Given the description of an element on the screen output the (x, y) to click on. 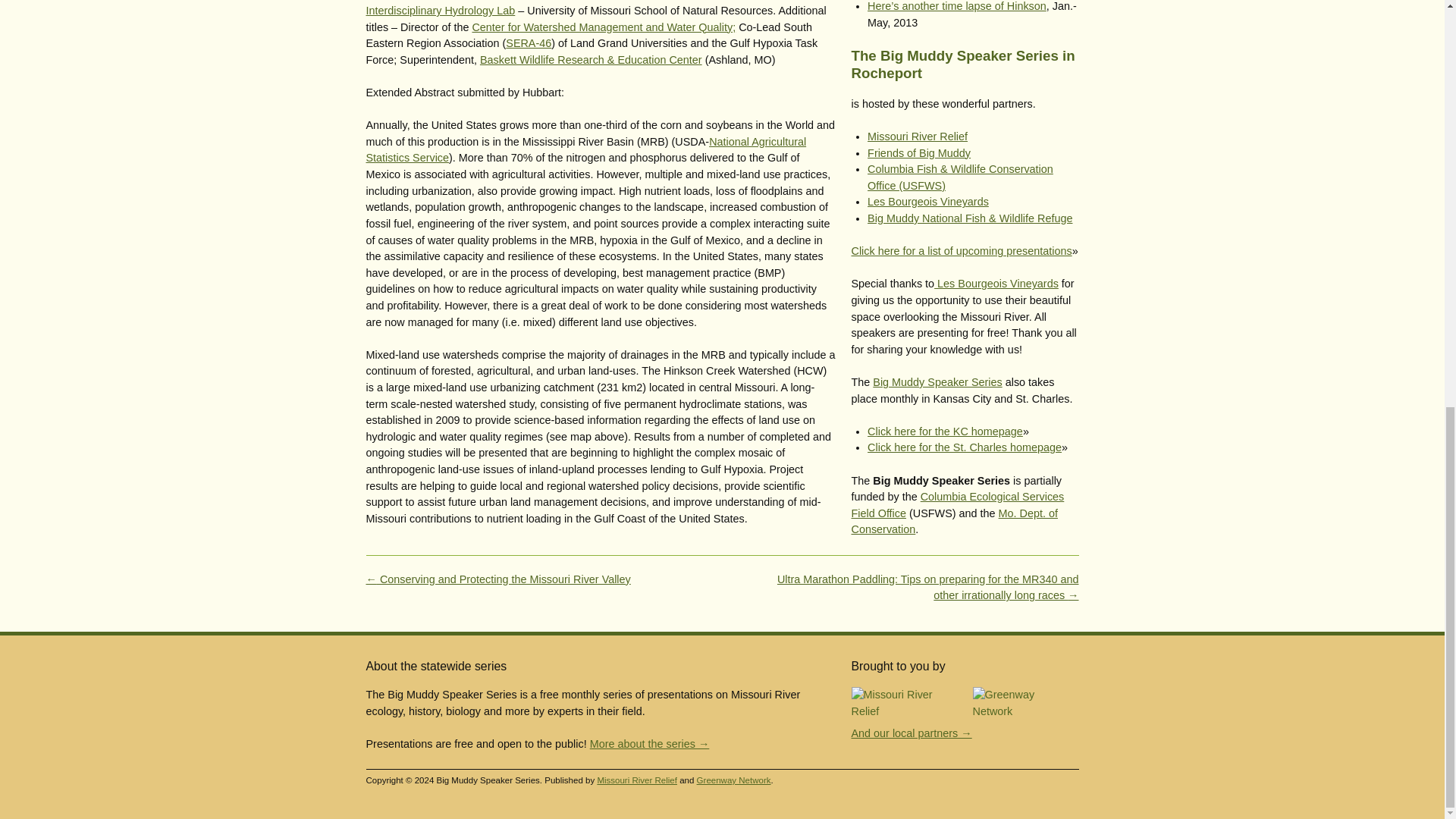
National Agricultural Statistics Service (585, 149)
The Interdisciplinary Hydrology Lab (566, 8)
SERA-46 (528, 42)
Center for Watershed Management and Water Quality; (603, 27)
